Given the description of an element on the screen output the (x, y) to click on. 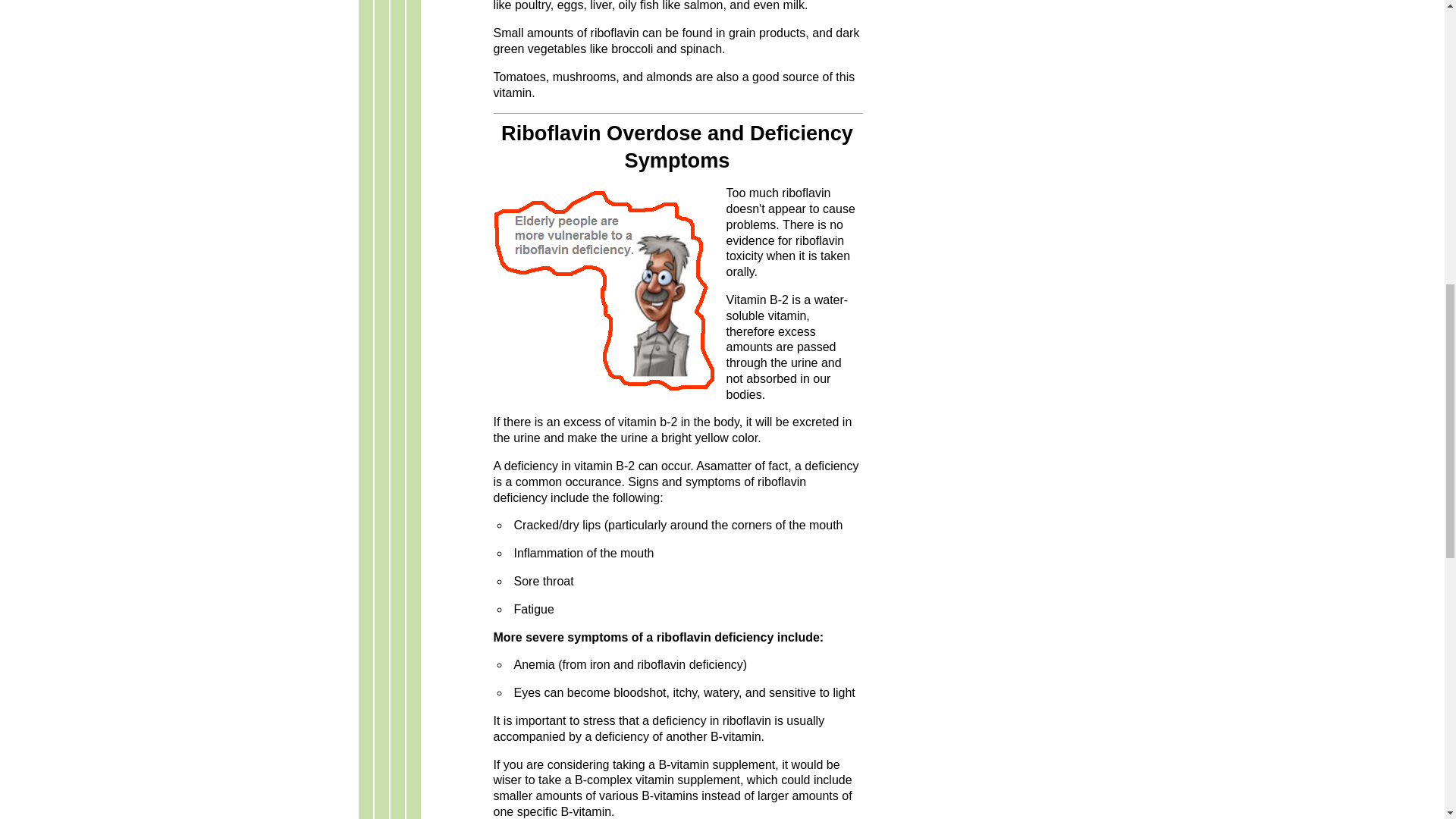
elderly people riboflavin (604, 291)
